Given the description of an element on the screen output the (x, y) to click on. 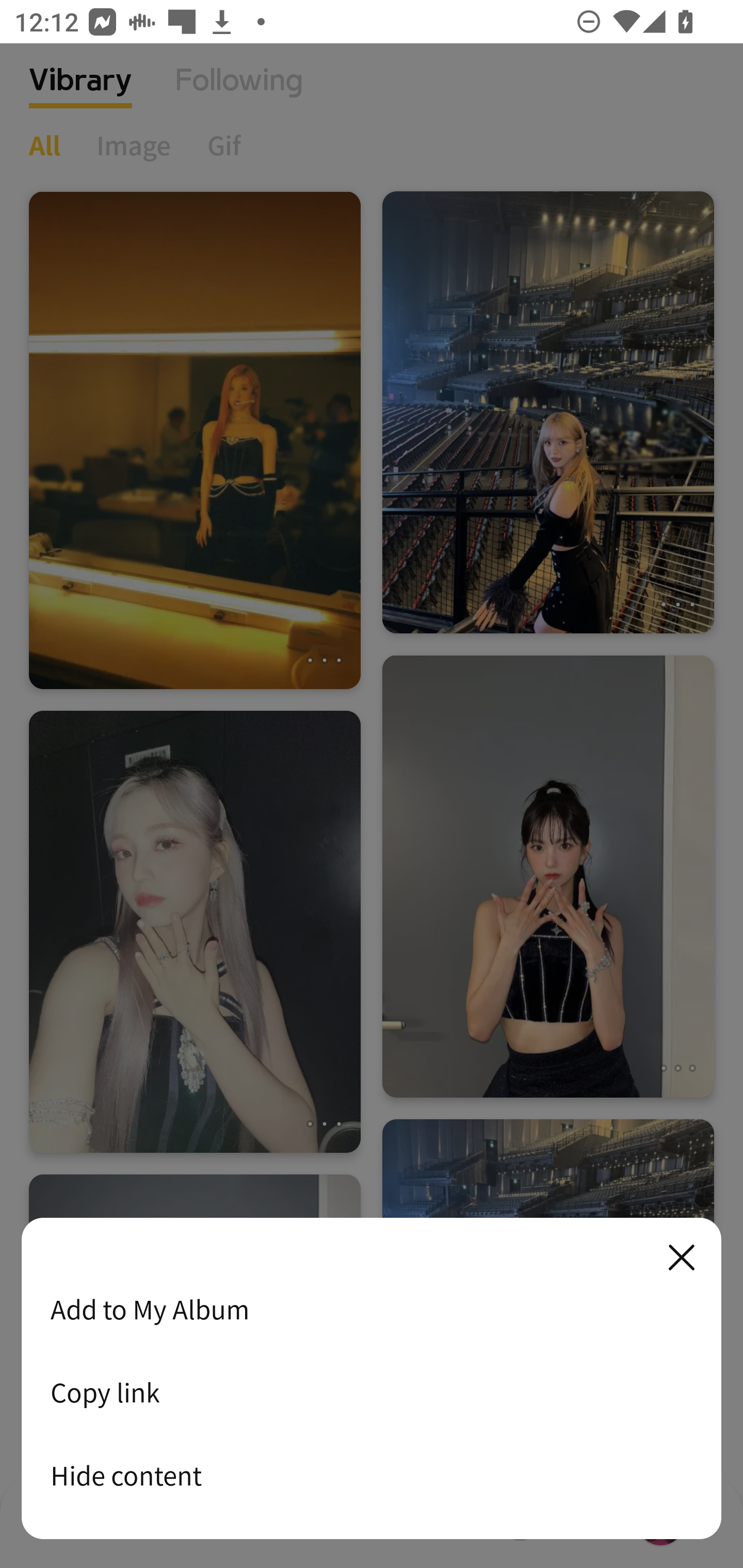
Add to My Album (371, 1308)
Copy link (371, 1391)
Hide content (371, 1474)
